Given the description of an element on the screen output the (x, y) to click on. 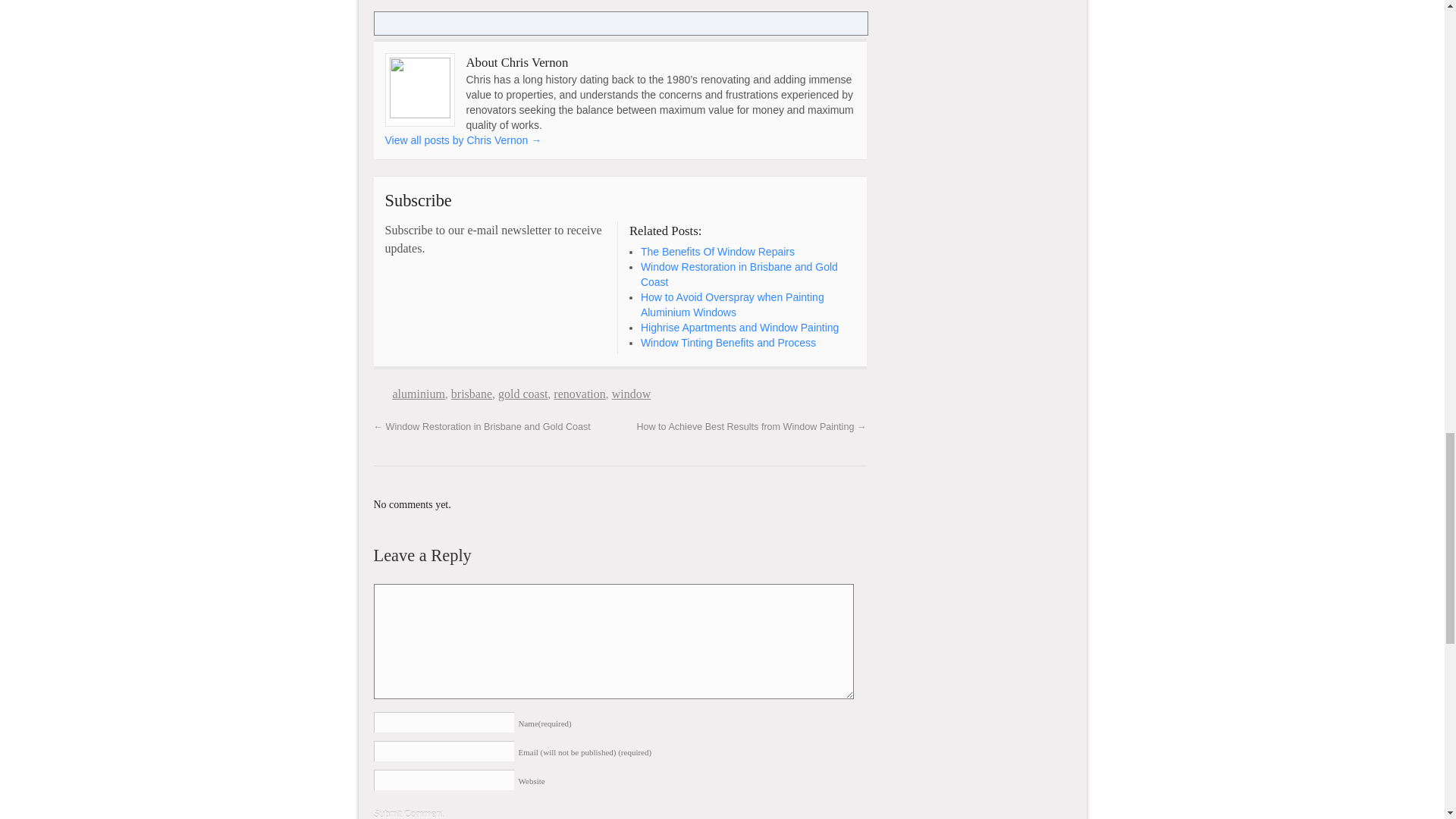
Highrise Apartments and Window Painting (739, 327)
The Benefits Of Window Repairs (717, 251)
Window Tinting Benefits and Process (727, 342)
The Benefits Of Window Repairs (717, 251)
Submit Comment (408, 814)
How to Avoid Overspray when Painting Aluminium Windows (732, 304)
Window Restoration in Brisbane and Gold Coast (739, 274)
Window Restoration in Brisbane and Gold Coast (739, 274)
How to Avoid Overspray when Painting Aluminium Windows (732, 304)
